Given the description of an element on the screen output the (x, y) to click on. 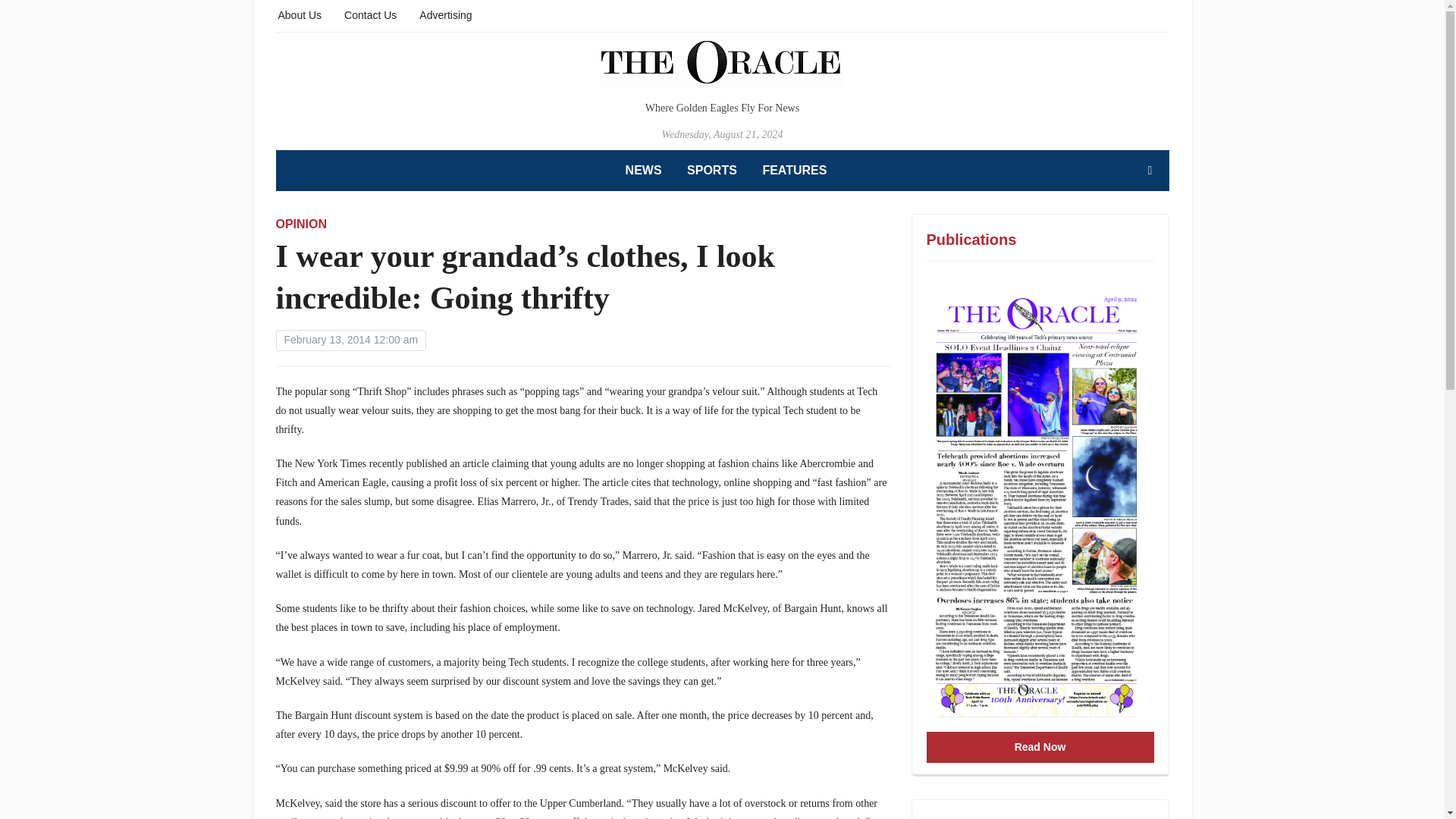
Advertising (445, 14)
About Us (299, 14)
OPINION (301, 223)
Read Now (1040, 747)
NEWS (644, 170)
FEATURES (794, 170)
Contact Us (369, 14)
SPORTS (711, 170)
Search (1149, 170)
